Given the description of an element on the screen output the (x, y) to click on. 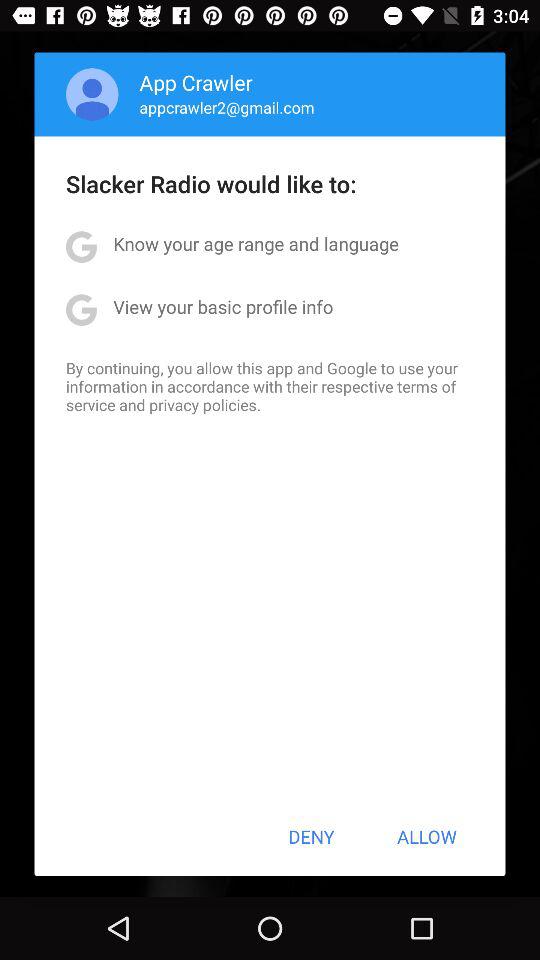
turn on the icon above the appcrawler2@gmail.com item (195, 82)
